Given the description of an element on the screen output the (x, y) to click on. 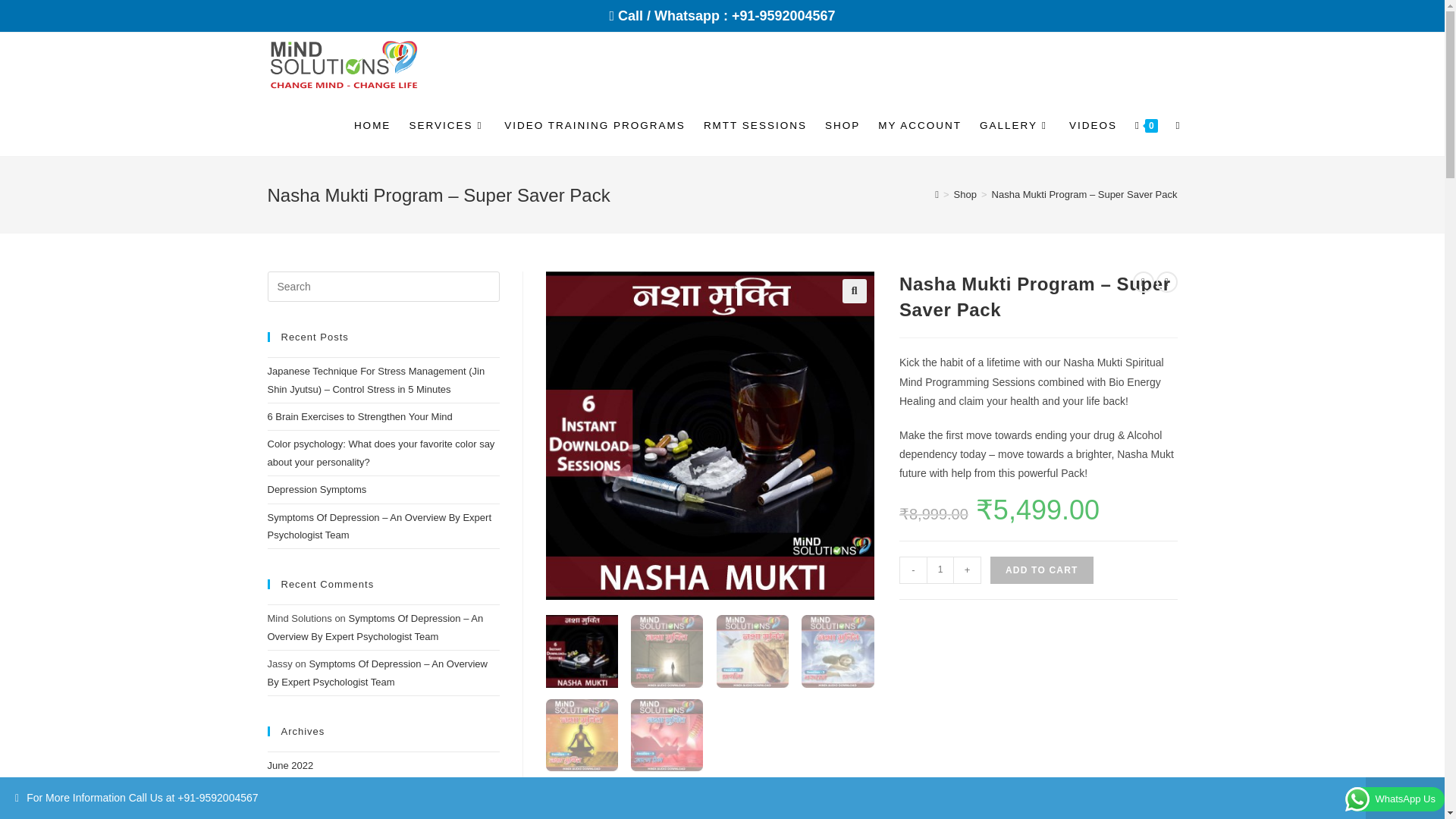
GALLERY (1015, 125)
Session-1-nasha-mukti (1038, 435)
VIDEOS (1092, 125)
SERVICES (446, 125)
VIDEO TRAINING PROGRAMS (594, 125)
RMTT SESSIONS (754, 125)
HOME (372, 125)
1 (939, 569)
nasha-mukti (710, 435)
MY ACCOUNT (920, 125)
